Given the description of an element on the screen output the (x, y) to click on. 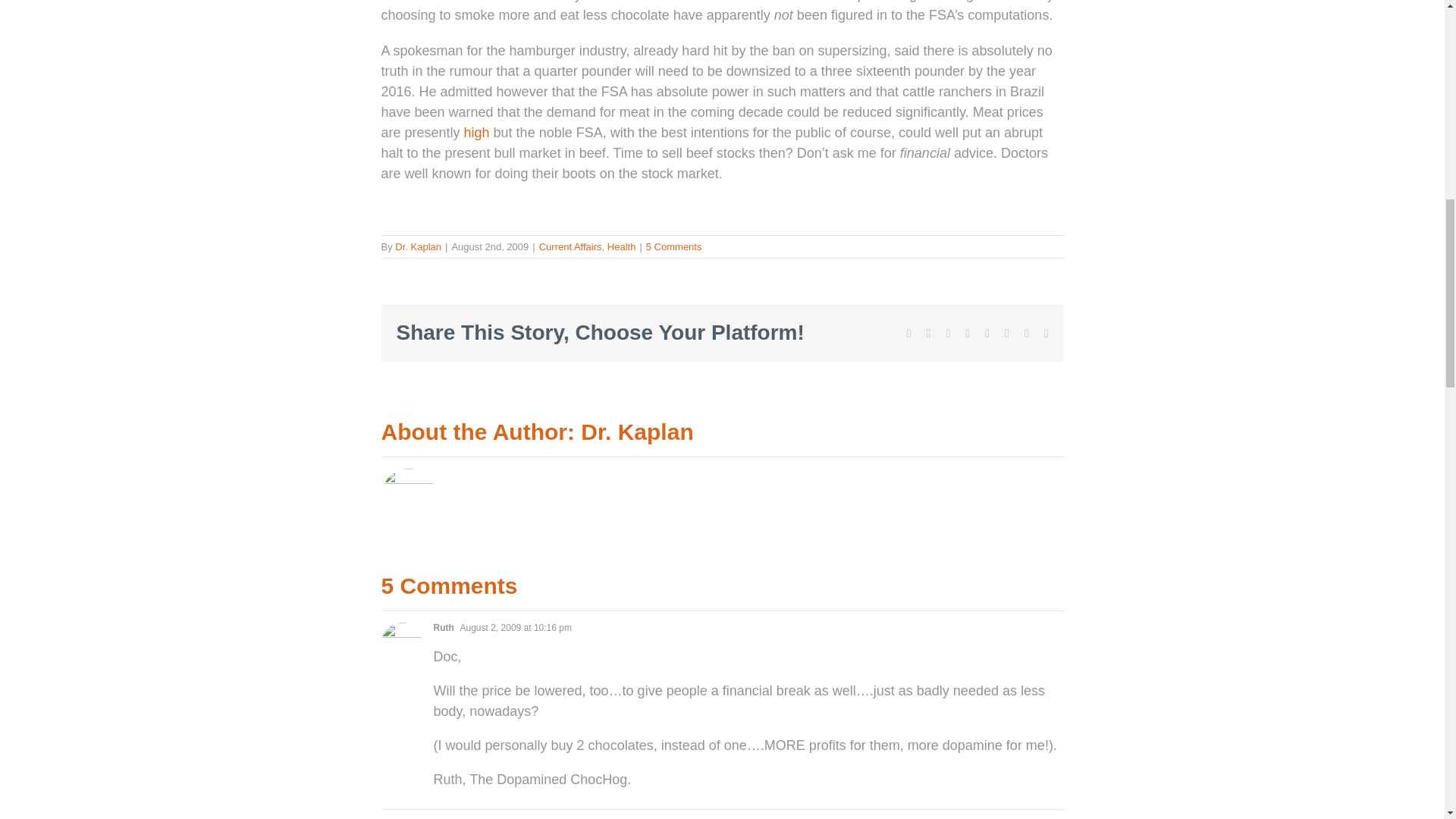
Posts by Dr. Kaplan (636, 431)
high (476, 132)
Dr. Kaplan (417, 246)
Posts by Dr. Kaplan (417, 246)
